Given the description of an element on the screen output the (x, y) to click on. 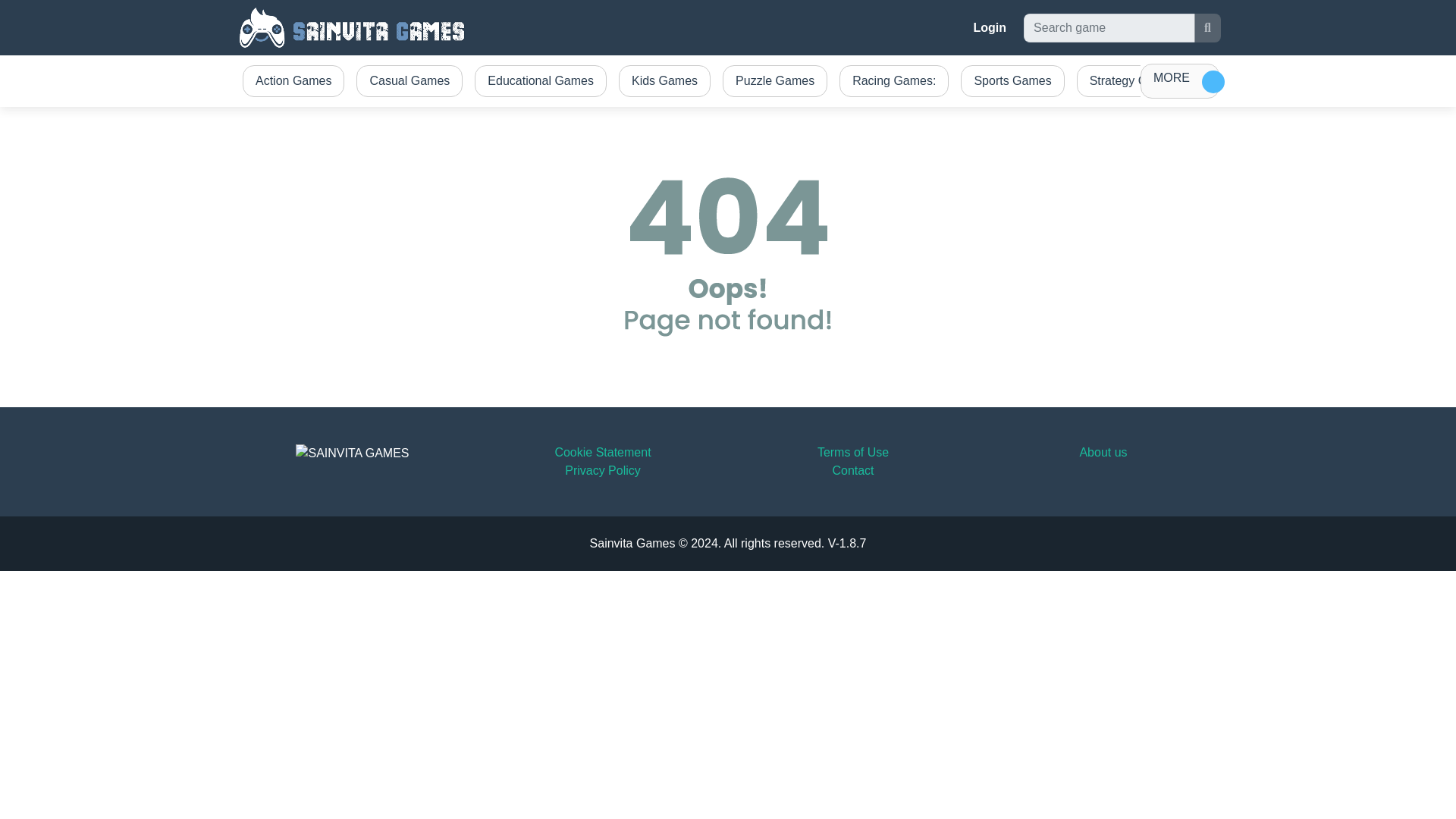
Strategy Games (1133, 80)
Racing Games: (893, 80)
Sports Games (1012, 80)
Privacy Policy (602, 470)
About us (1102, 451)
Contact (852, 470)
Kids Games (664, 80)
Cookie Statement (602, 451)
Login (990, 27)
Casual Games (409, 80)
Action Games (292, 80)
Terms of Use (852, 451)
MORE (1180, 80)
Educational Games (540, 80)
Puzzle Games (774, 80)
